Given the description of an element on the screen output the (x, y) to click on. 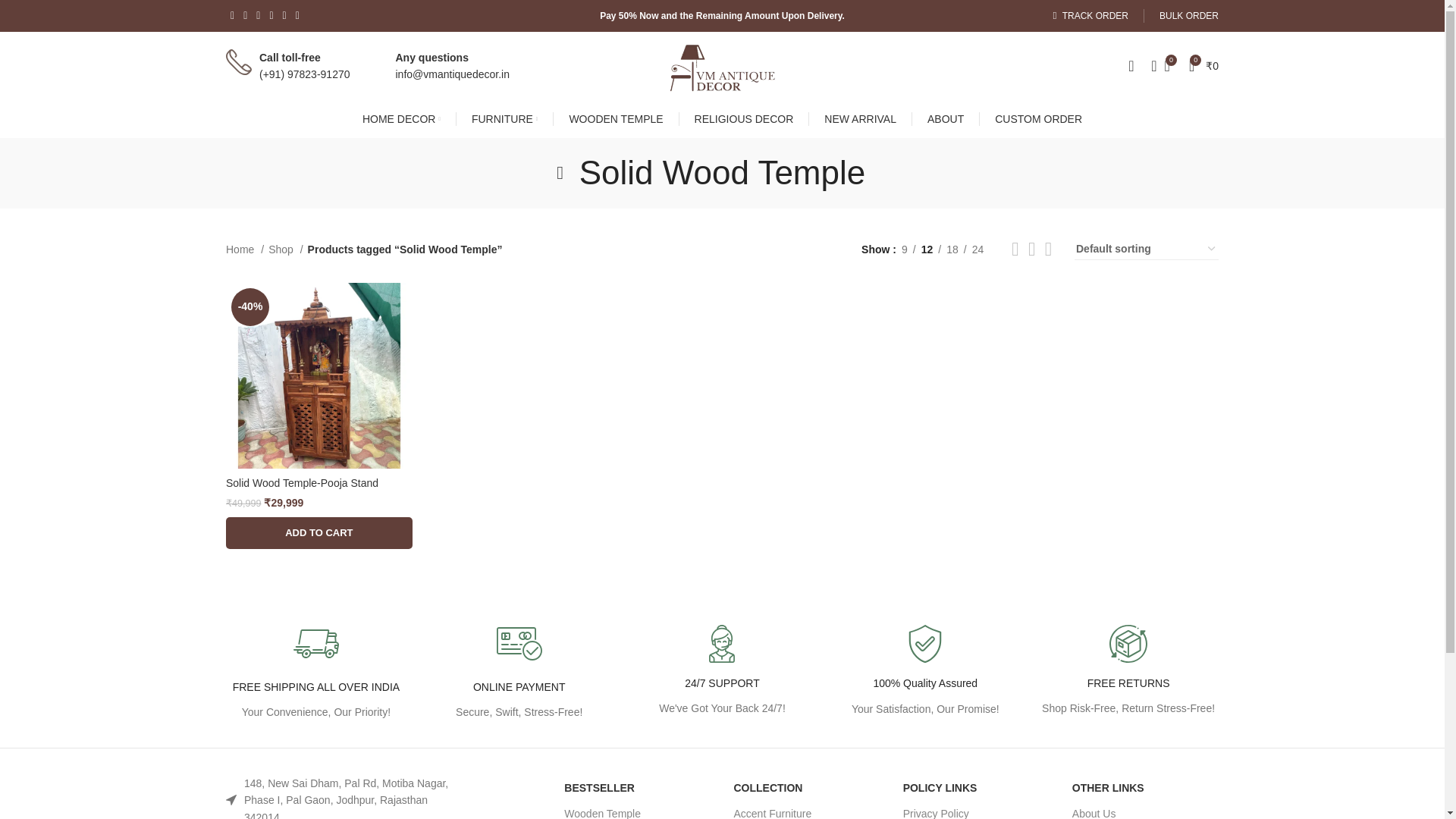
TRACK ORDER (1090, 15)
FURNITURE (504, 119)
Shopping cart (1202, 65)
BULK ORDER (1188, 15)
wd-cursor-dark (230, 799)
HOME DECOR (401, 119)
